Given the description of an element on the screen output the (x, y) to click on. 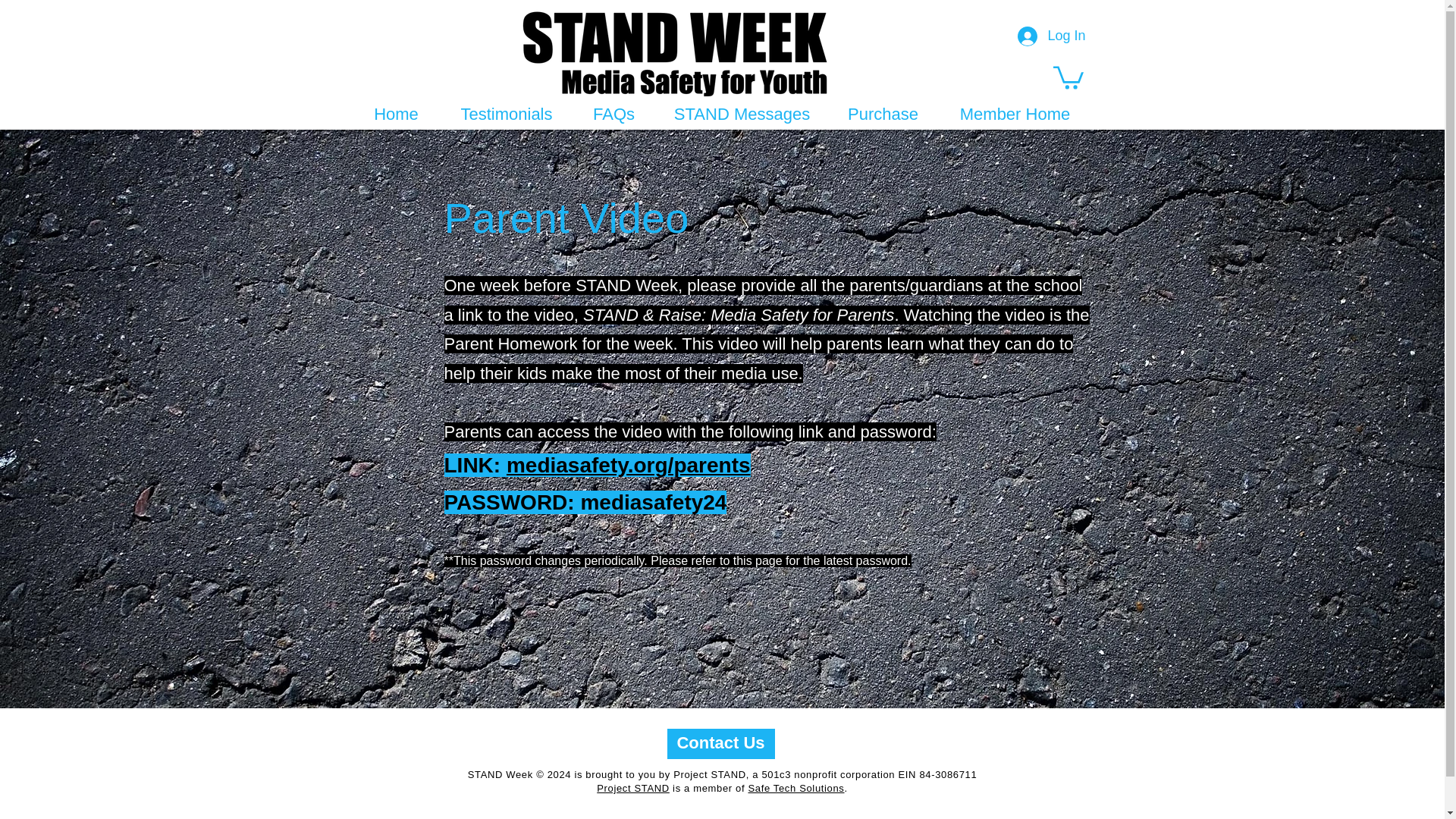
Contact Us (720, 743)
Member Home (1015, 113)
Log In (1050, 36)
Project STAND (632, 787)
Testimonials (505, 113)
Safe Tech Solutions (796, 787)
Purchase (882, 113)
FAQs (612, 113)
Home (395, 113)
STAND Messages (741, 113)
